Given the description of an element on the screen output the (x, y) to click on. 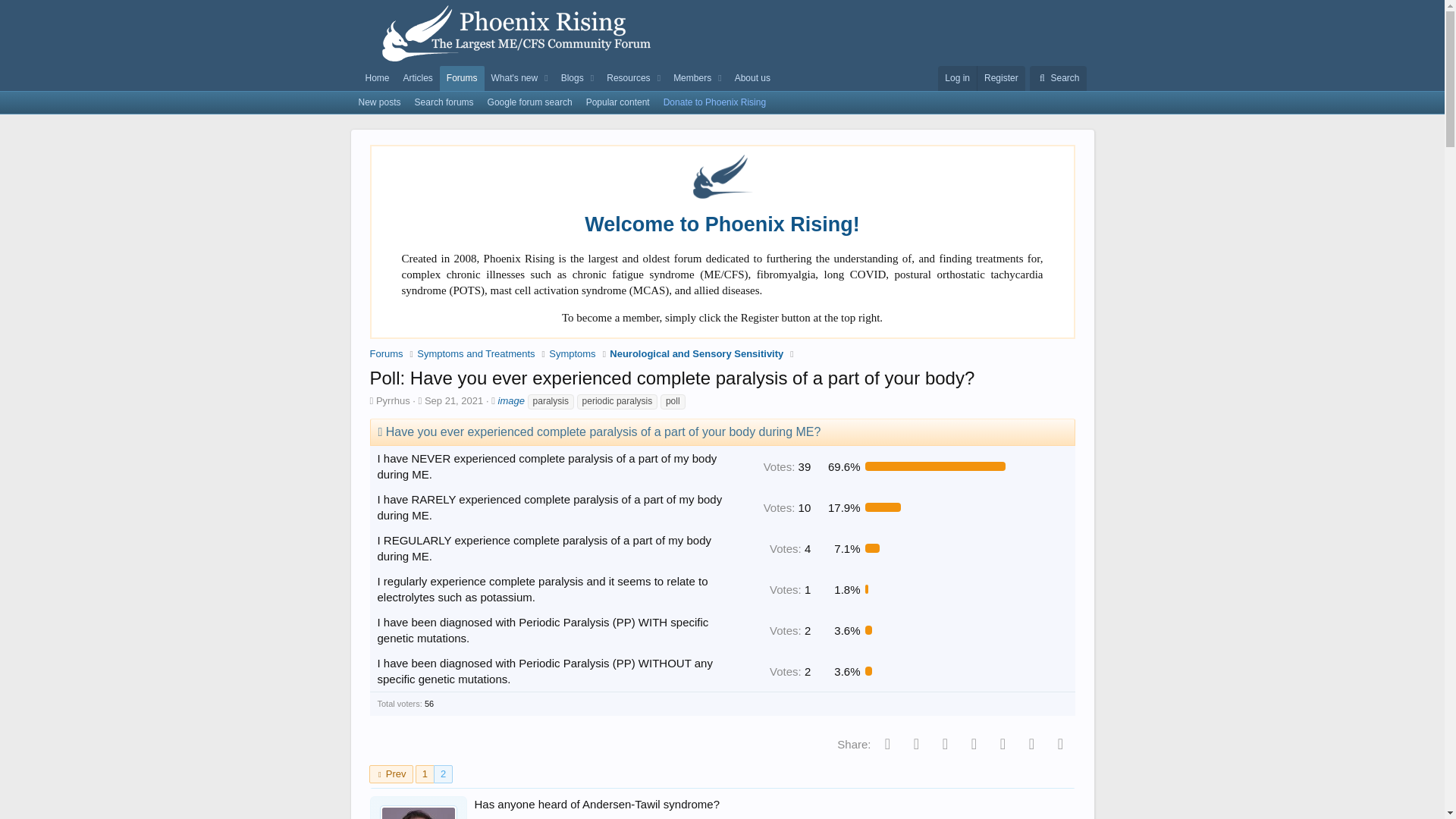
Home (377, 78)
Log in (956, 78)
Blogs (569, 78)
Forums (461, 78)
Members (688, 78)
Search (1057, 78)
Resources (624, 78)
Articles (417, 78)
